Given the description of an element on the screen output the (x, y) to click on. 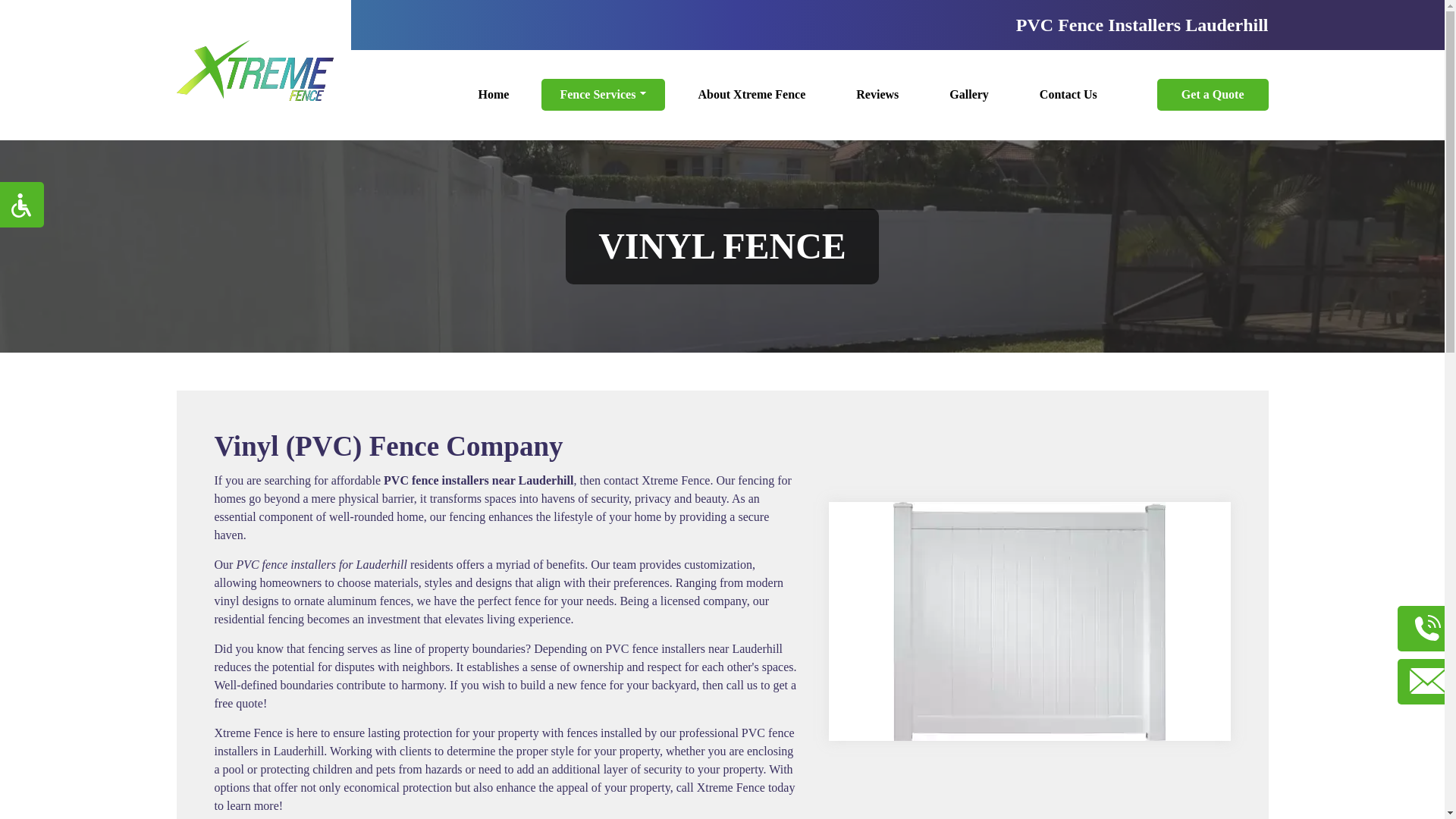
Get a Quote (1212, 94)
Reviews (877, 94)
Home (493, 94)
About Xtreme Fence (751, 94)
Contact Us (1068, 94)
Gallery (969, 94)
Fence Services (603, 94)
